Given the description of an element on the screen output the (x, y) to click on. 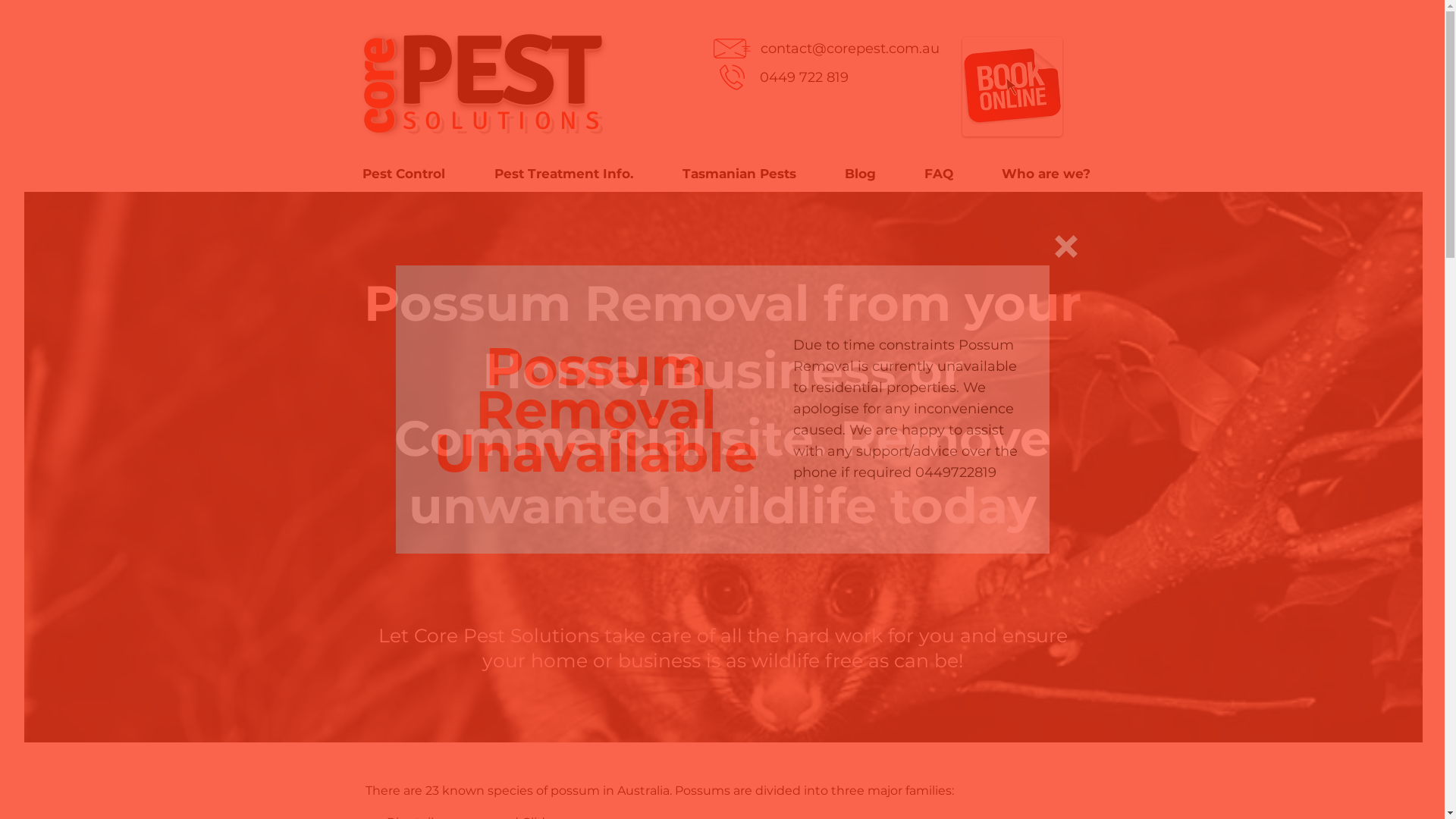
core Element type: text (379, 77)
contact@corepest.com.au Element type: text (848, 48)
PEST  Element type: text (504, 65)
SOLUTIONS Element type: text (505, 119)
FAQ Element type: text (937, 173)
Who are we? Element type: text (1044, 173)
Back to site Element type: hover (1065, 246)
